Given the description of an element on the screen output the (x, y) to click on. 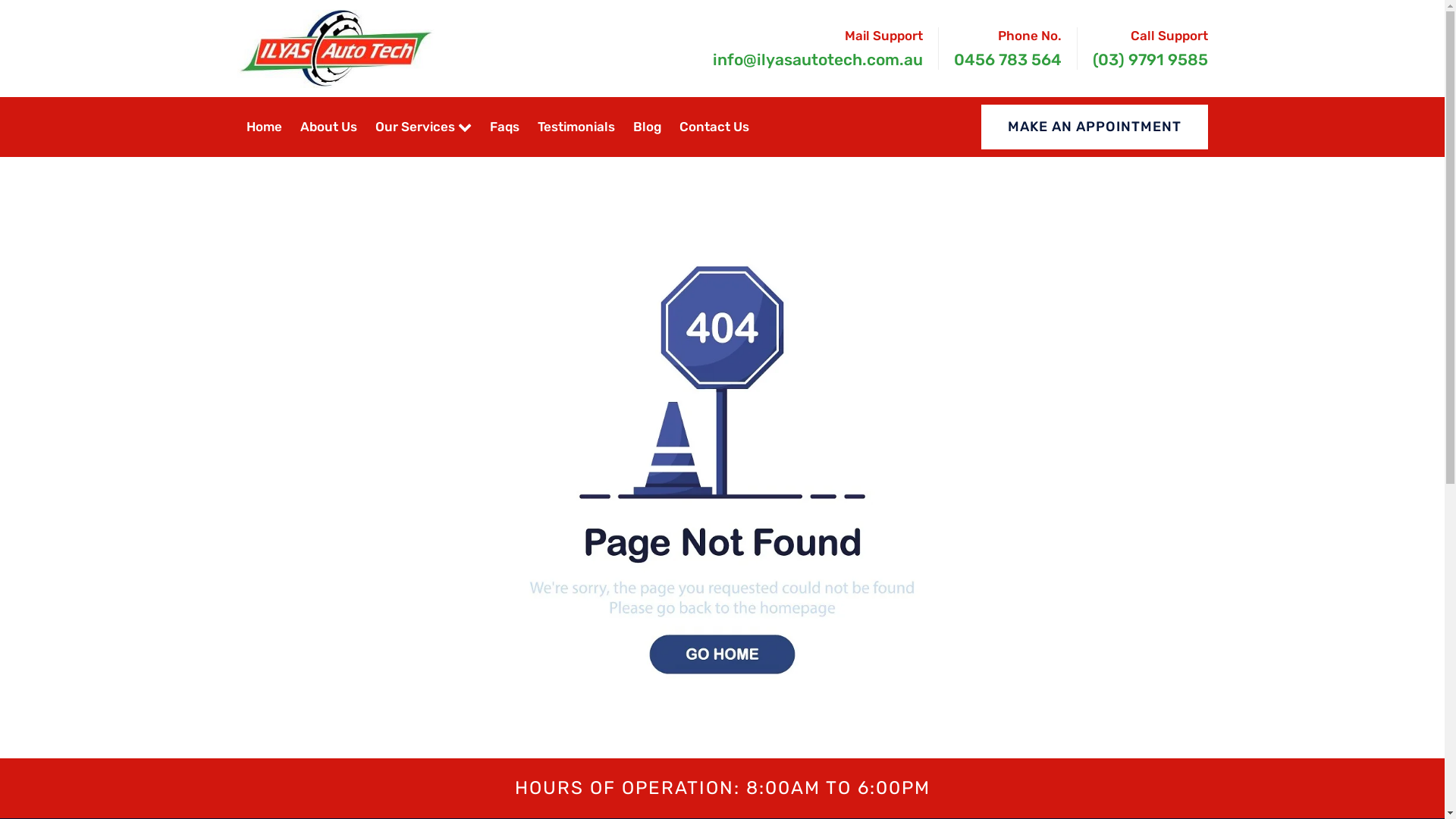
(03) 9791 9585 Element type: text (1149, 59)
info@ilyasautotech.com.au Element type: text (817, 59)
Blog Element type: text (647, 126)
MAKE AN APPOINTMENT Element type: text (1094, 126)
Our Services Element type: text (422, 126)
Testimonials Element type: text (576, 126)
Faqs Element type: text (504, 126)
0456 783 564 Element type: text (1007, 59)
About Us Element type: text (328, 126)
Contact Us Element type: text (714, 126)
Home Element type: text (263, 126)
